Given the description of an element on the screen output the (x, y) to click on. 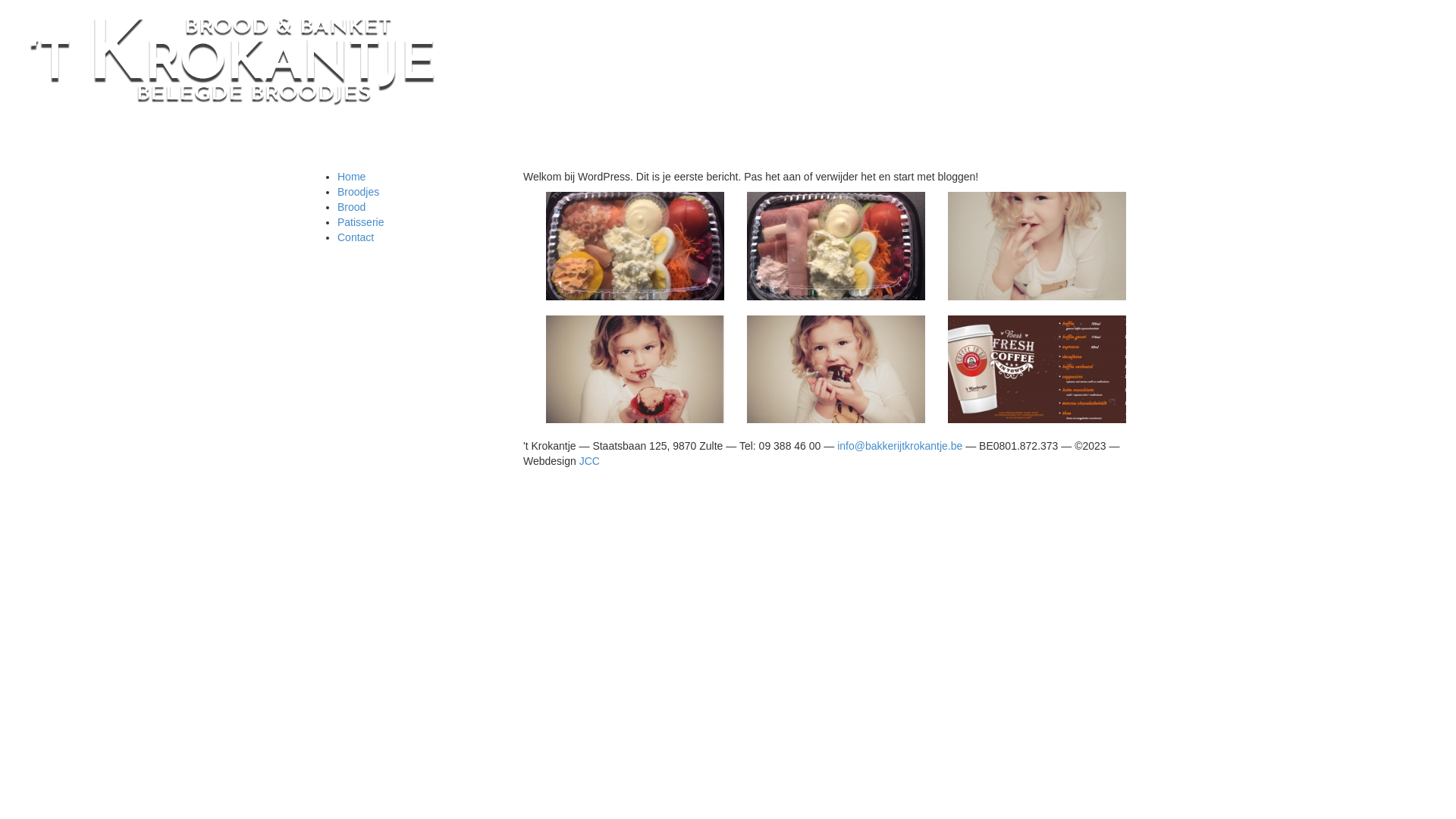
info@bakkerijtkrokantje.be Element type: text (899, 445)
JCC Element type: text (589, 461)
Contact Element type: text (355, 237)
Broodjes Element type: text (358, 191)
Patisserie Element type: text (360, 222)
Brood Element type: text (351, 206)
Home Element type: text (351, 176)
